Given the description of an element on the screen output the (x, y) to click on. 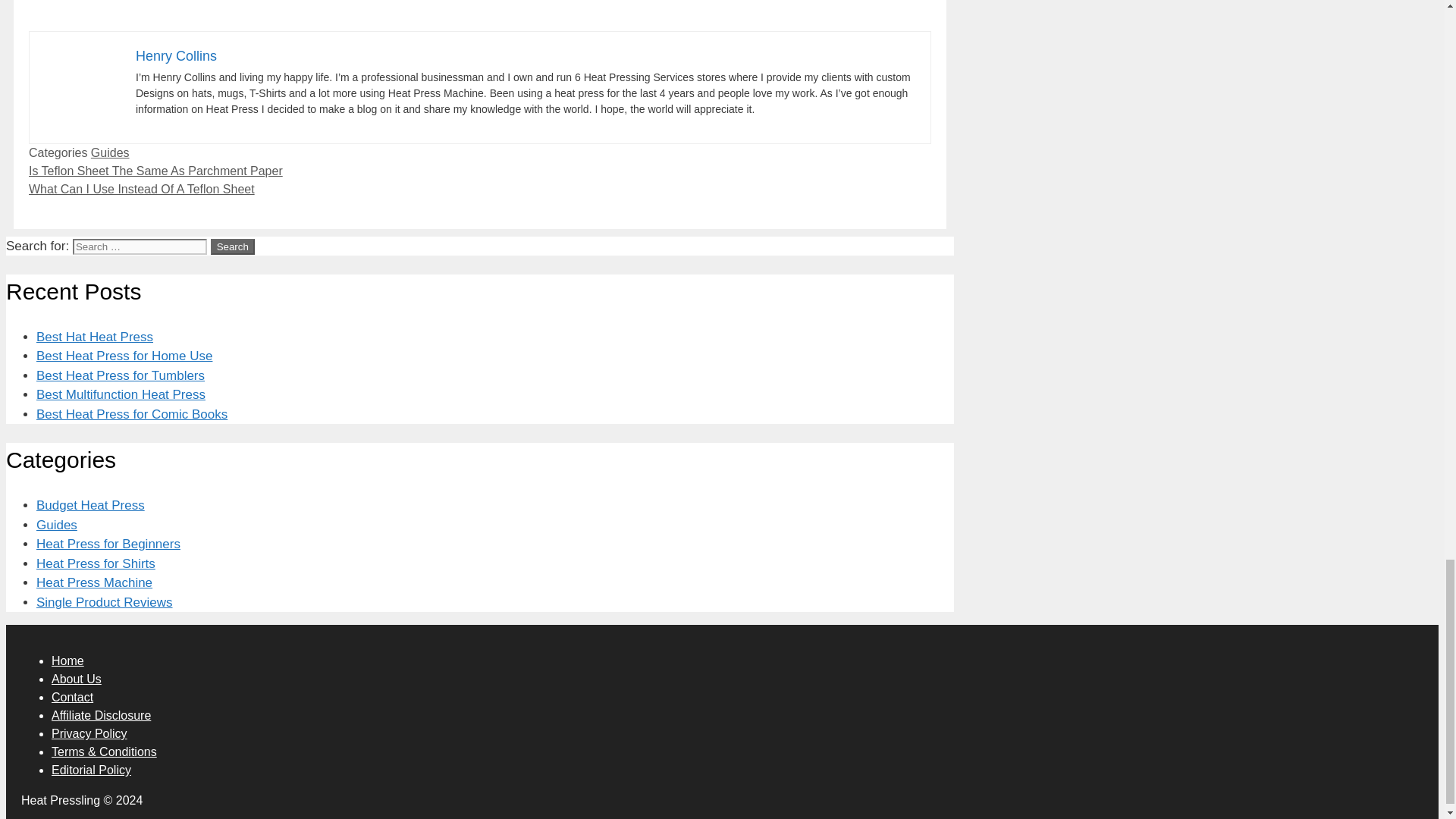
Search (232, 246)
Single Product Reviews (104, 602)
Best Hat Heat Press (94, 336)
What Can I Use Instead Of A Teflon Sheet (141, 188)
Best Heat Press for Tumblers (120, 375)
Budget Heat Press (90, 504)
Search for: (139, 246)
Privacy Policy (89, 733)
Guides (56, 524)
Is Teflon Sheet The Same As Parchment Paper (155, 170)
